Given the description of an element on the screen output the (x, y) to click on. 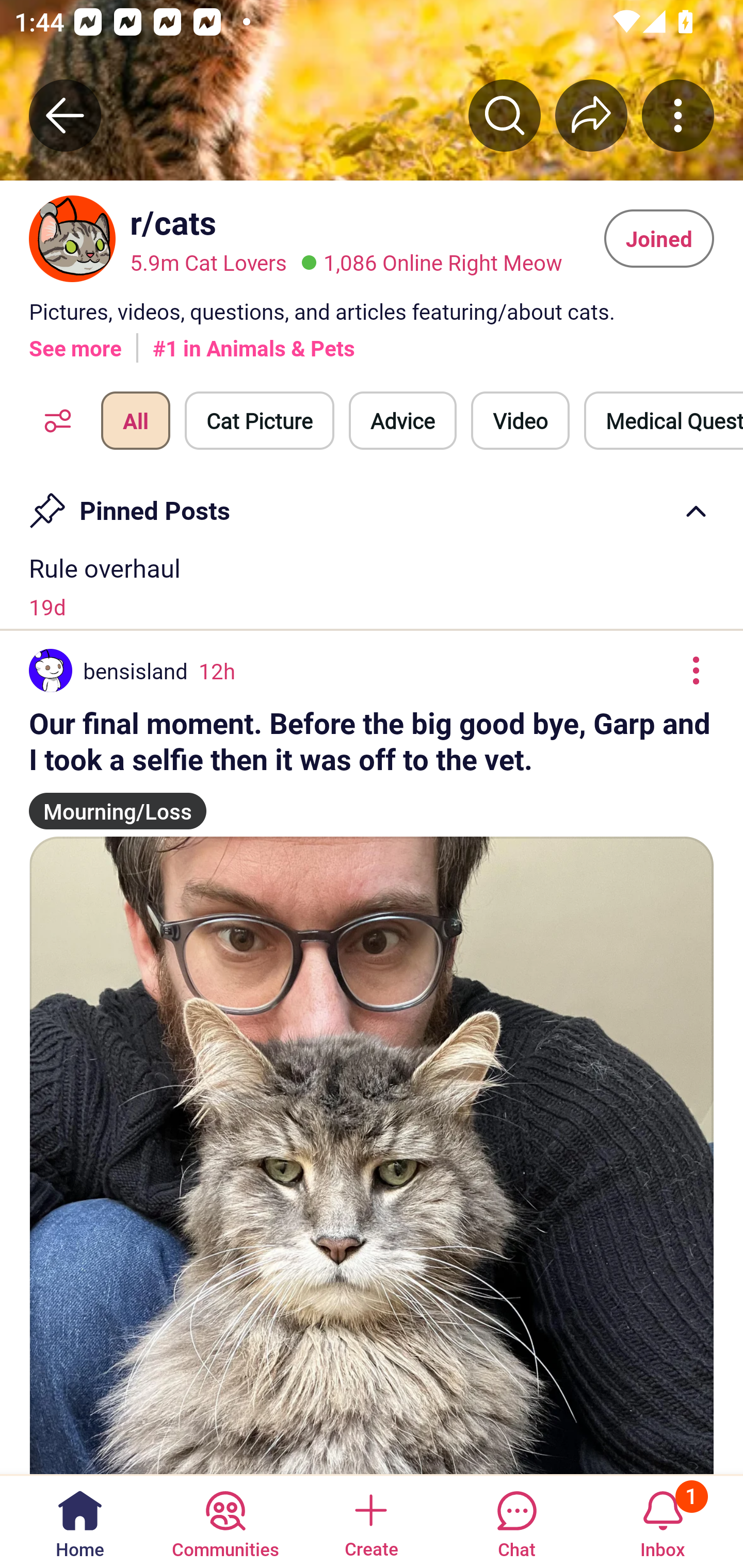
Back (64, 115)
Search r/﻿cats (504, 115)
Share r/﻿cats (591, 115)
More community actions (677, 115)
Feed Options (53, 421)
All (135, 421)
Cat Picture (259, 421)
Advice (402, 421)
Video (520, 421)
Medical Questio… (663, 421)
Pin Pinned Posts Caret (371, 503)
Rule overhaul 19d (371, 586)
Mourning/Loss (117, 802)
Home (80, 1520)
Communities (225, 1520)
Create a post Create (370, 1520)
Chat (516, 1520)
Inbox, has 1 notification 1 Inbox (662, 1520)
